Given the description of an element on the screen output the (x, y) to click on. 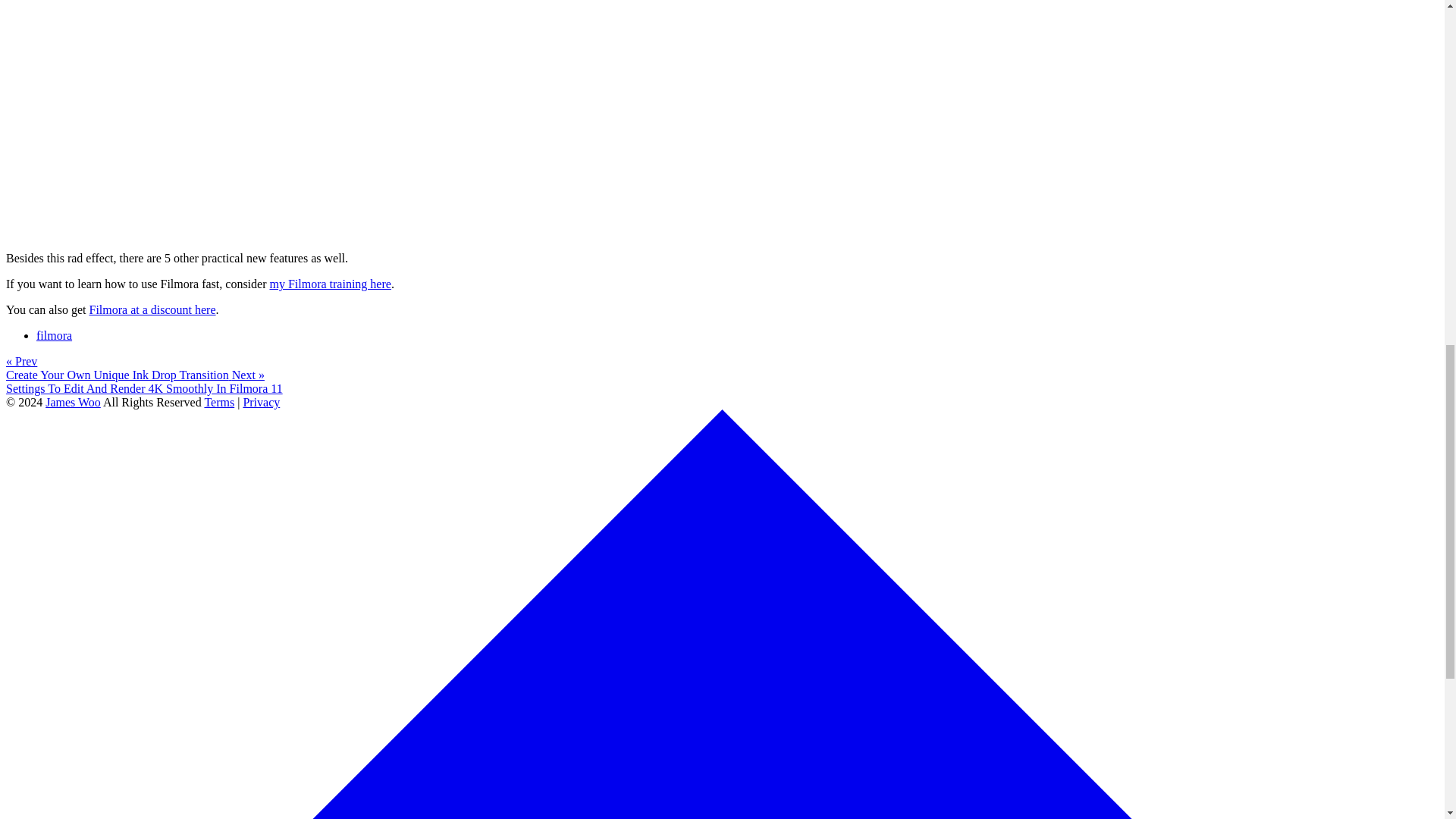
Privacy (261, 401)
filmora (53, 335)
Filmora at a discount here (151, 309)
Terms (218, 401)
my Filmora training here (329, 283)
James Woo (72, 401)
